Given the description of an element on the screen output the (x, y) to click on. 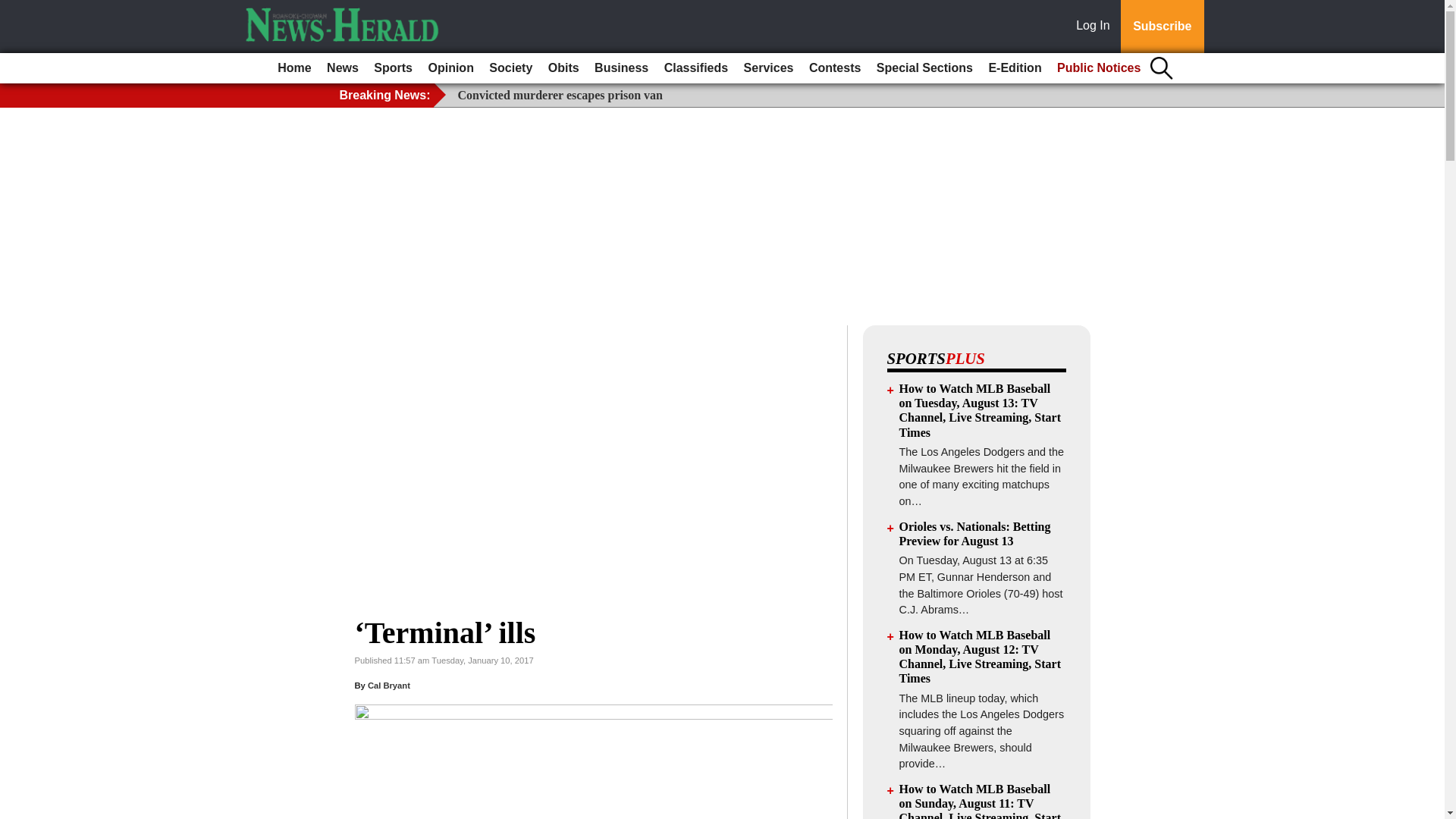
Sports (393, 68)
Opinion (450, 68)
Subscribe (1162, 26)
Go (13, 9)
Special Sections (924, 68)
Obits (563, 68)
Home (293, 68)
Log In (1095, 26)
Cal Bryant (389, 685)
Services (768, 68)
